Given the description of an element on the screen output the (x, y) to click on. 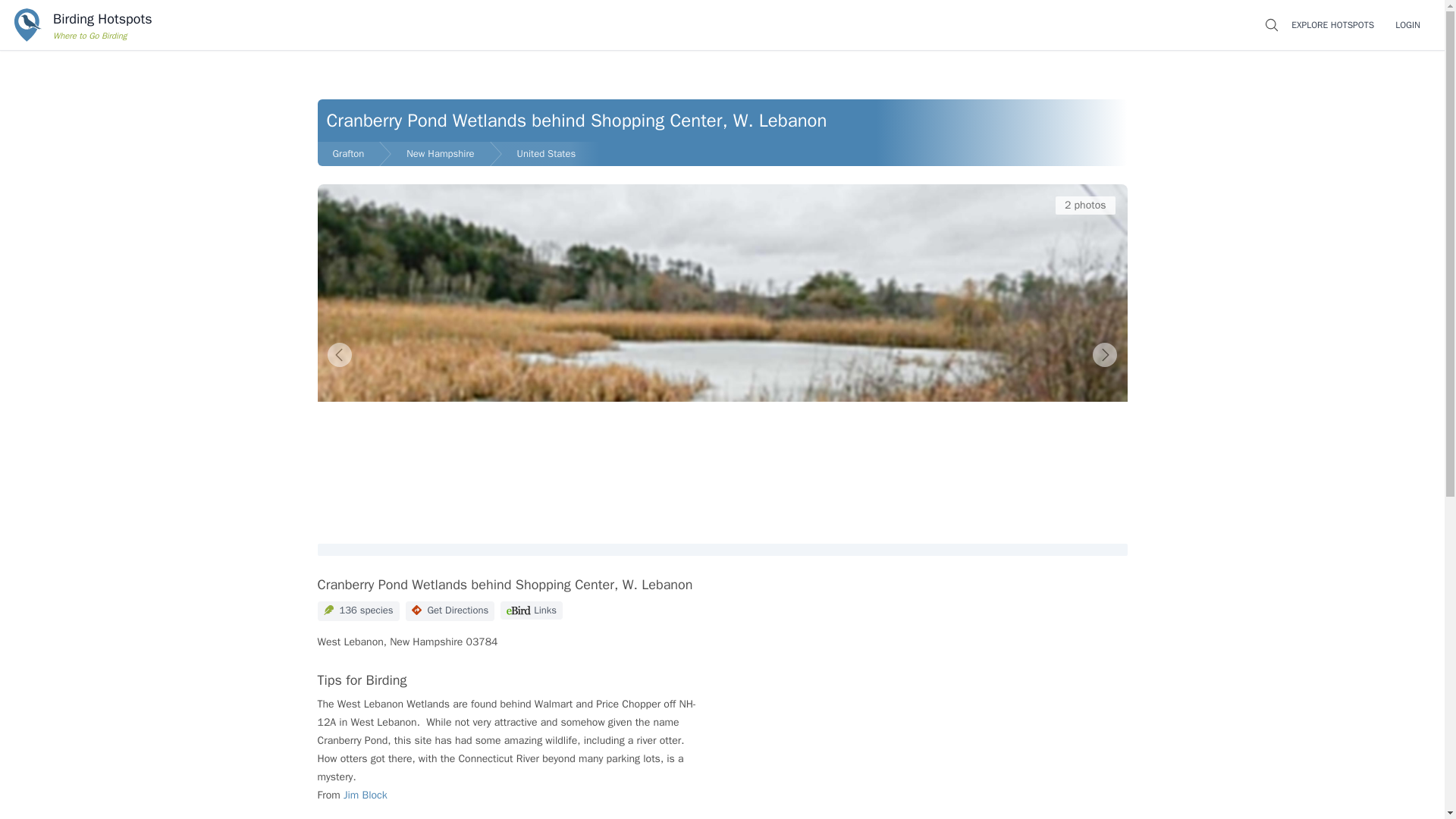
New Hampshire (440, 153)
Links (531, 610)
Jim Block (365, 794)
Get Directions (450, 610)
Grafton (347, 153)
United States (550, 153)
LOGIN (79, 24)
2 photos (1407, 24)
136 species (1085, 205)
